Given the description of an element on the screen output the (x, y) to click on. 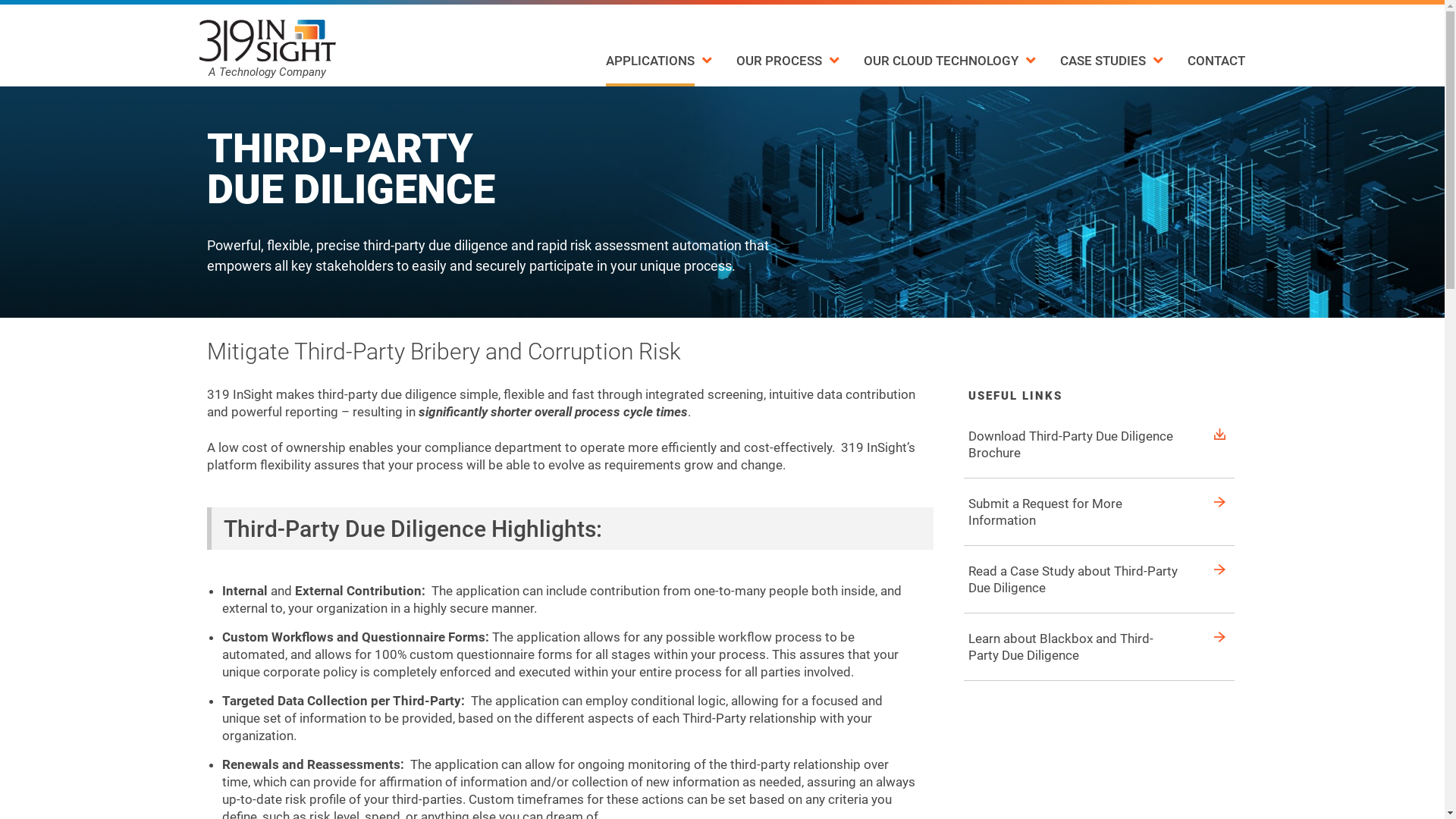
Read a Case Study about Third-Party Due Diligence Element type: text (1072, 579)
OUR PROCESS Element type: text (787, 60)
CONTACT Element type: text (1216, 60)
CASE STUDIES Element type: text (1111, 60)
Submit a Request for More Information Element type: text (1045, 511)
Download Third-Party Due Diligence Brochure Element type: text (1070, 444)
OUR CLOUD TECHNOLOGY Element type: text (949, 60)
APPLICATIONS Element type: text (658, 60)
Learn about Blackbox and Third-Party Due Diligence Element type: text (1060, 646)
